Given the description of an element on the screen output the (x, y) to click on. 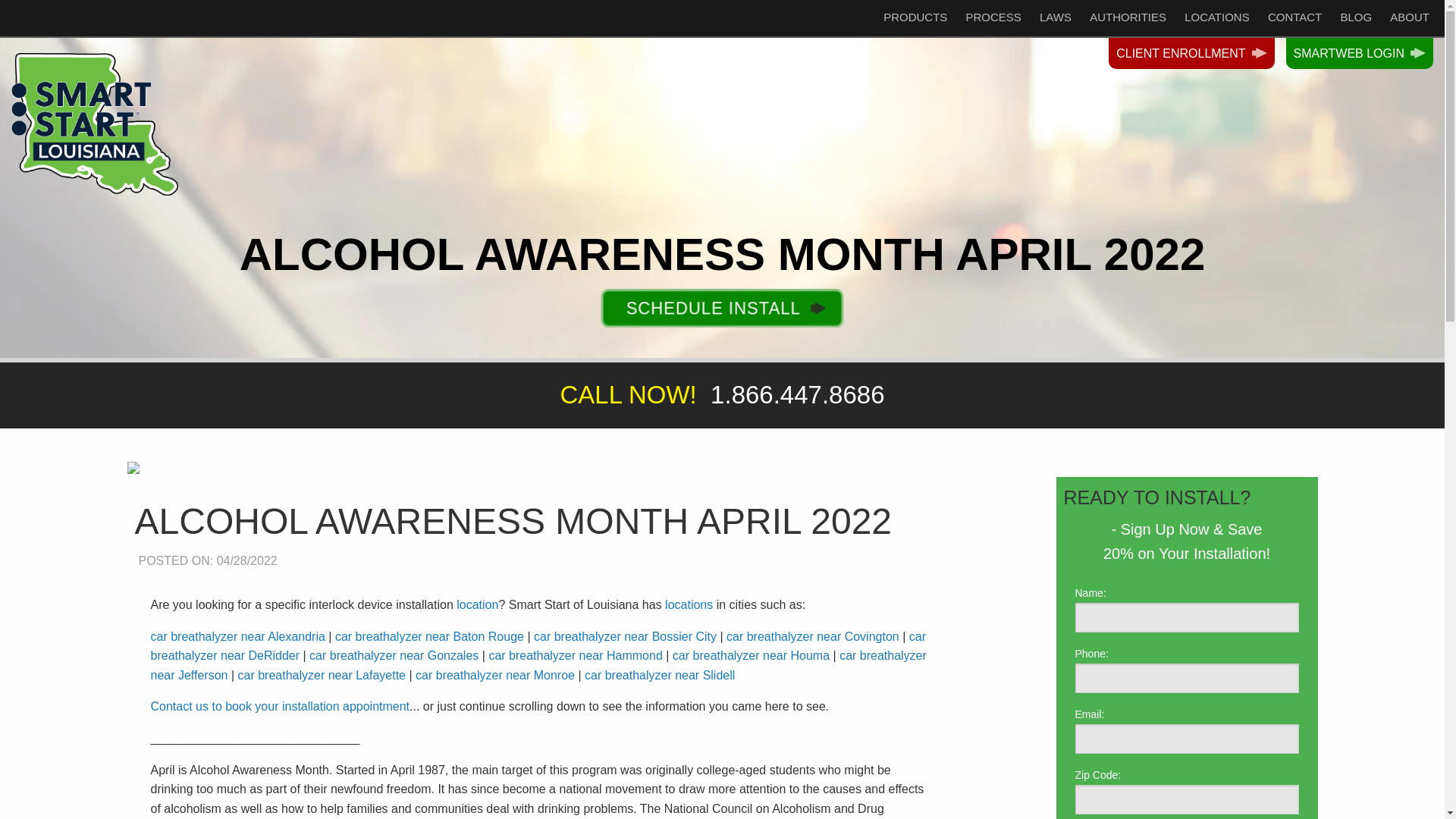
car breathalyzer near Slidell (660, 675)
car breathalyzer near Monroe (494, 675)
CONTACT (1294, 3)
AUTHORITIES (1127, 0)
LOCATIONS (1216, 2)
car breathalyzer near Gonzales (393, 655)
CLIENT ENROLLMENT (1191, 52)
ABOUT (1409, 5)
car breathalyzer near Houma (750, 655)
CALL NOW!  1.866.447.8686 (722, 393)
